Given the description of an element on the screen output the (x, y) to click on. 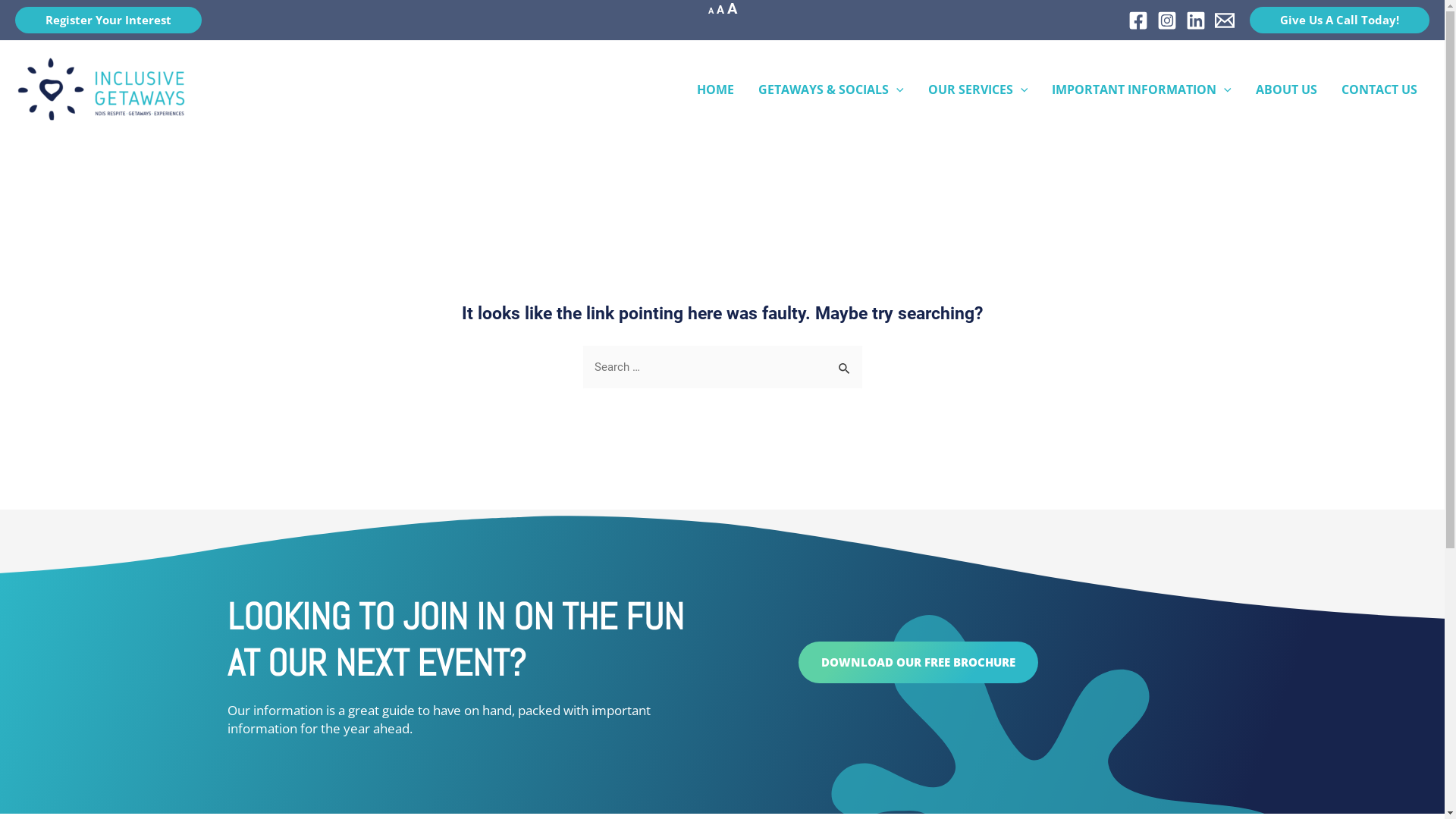
A
Reset font size. Element type: text (719, 9)
OUR SERVICES Element type: text (978, 89)
A
Increase font size. Element type: text (731, 8)
Search Element type: text (845, 360)
IMPORTANT INFORMATION Element type: text (1141, 89)
A
Decrease font size. Element type: text (710, 10)
HOME Element type: text (715, 89)
CONTACT US Element type: text (1379, 89)
ABOUT US Element type: text (1286, 89)
DOWNLOAD OUR FREE BROCHURE Element type: text (917, 662)
Register Your Interest Element type: text (108, 19)
GETAWAYS & SOCIALS Element type: text (831, 89)
Give Us A Call Today! Element type: text (1339, 19)
